Given the description of an element on the screen output the (x, y) to click on. 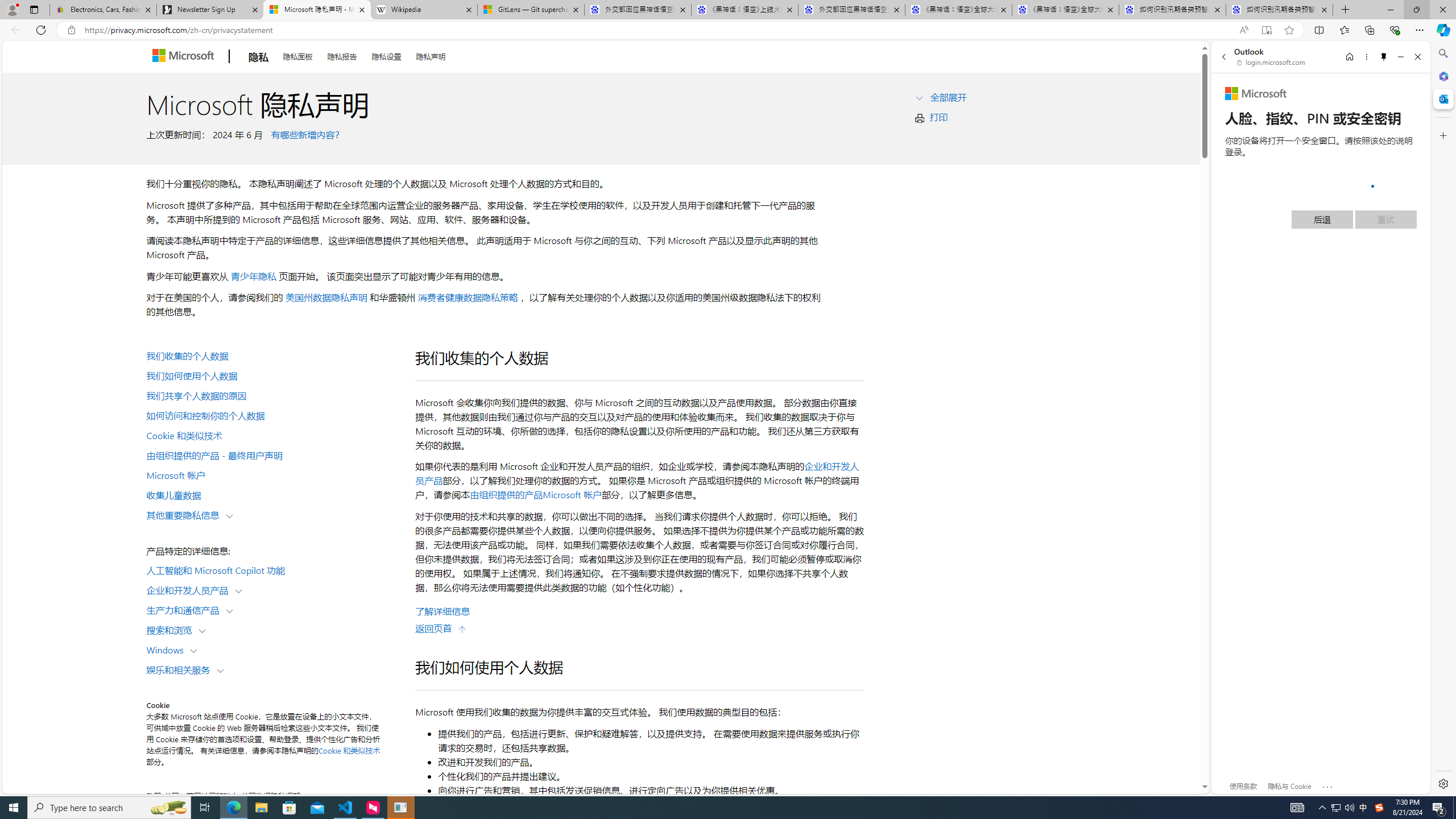
login.microsoft.com (1271, 61)
